Given the description of an element on the screen output the (x, y) to click on. 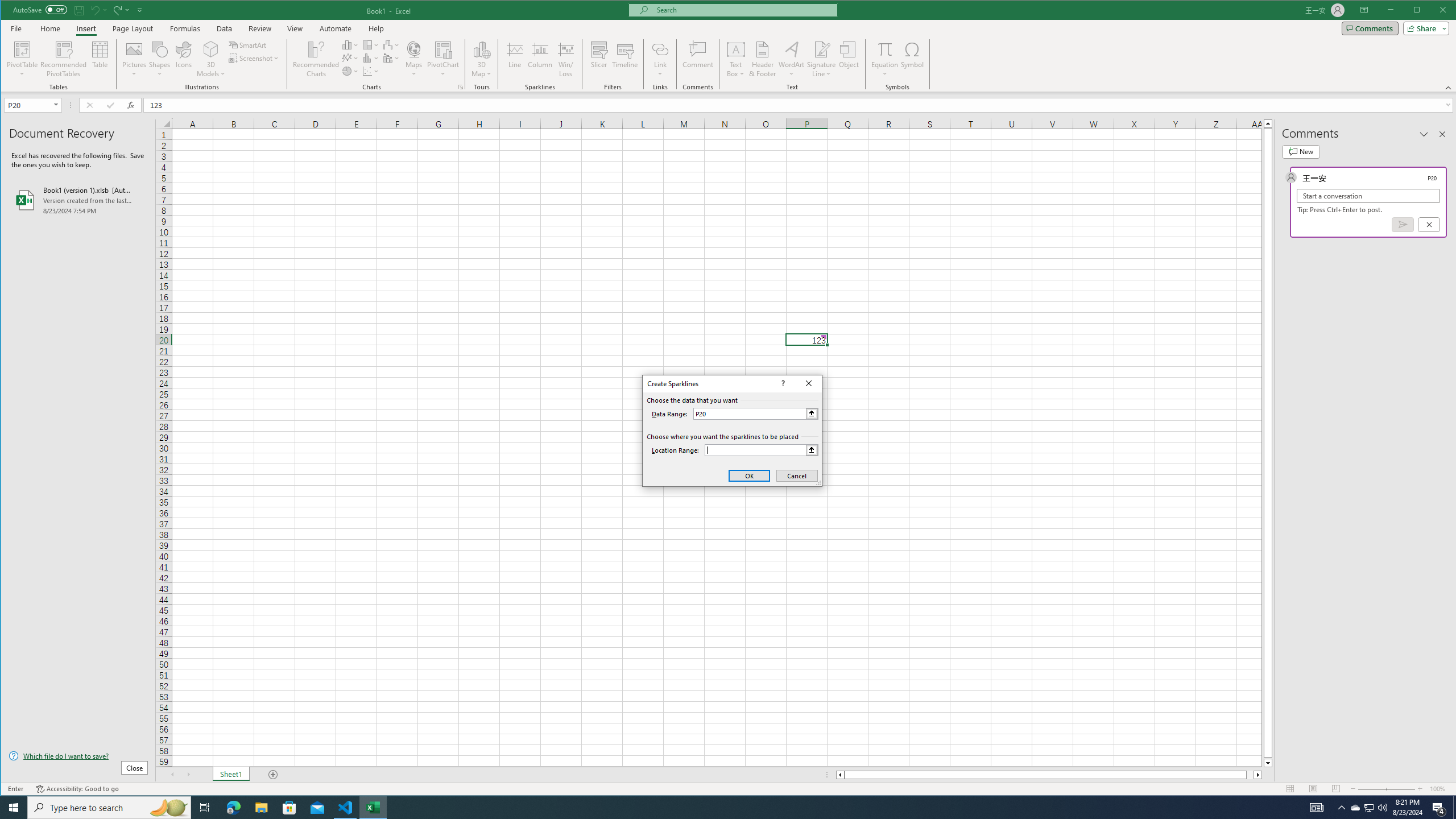
Microsoft Edge (233, 807)
PivotChart (443, 48)
Win/Loss (565, 59)
Recommended Charts (460, 86)
Object... (848, 59)
Data Range (755, 413)
Maps (413, 59)
3D Map (481, 48)
